Given the description of an element on the screen output the (x, y) to click on. 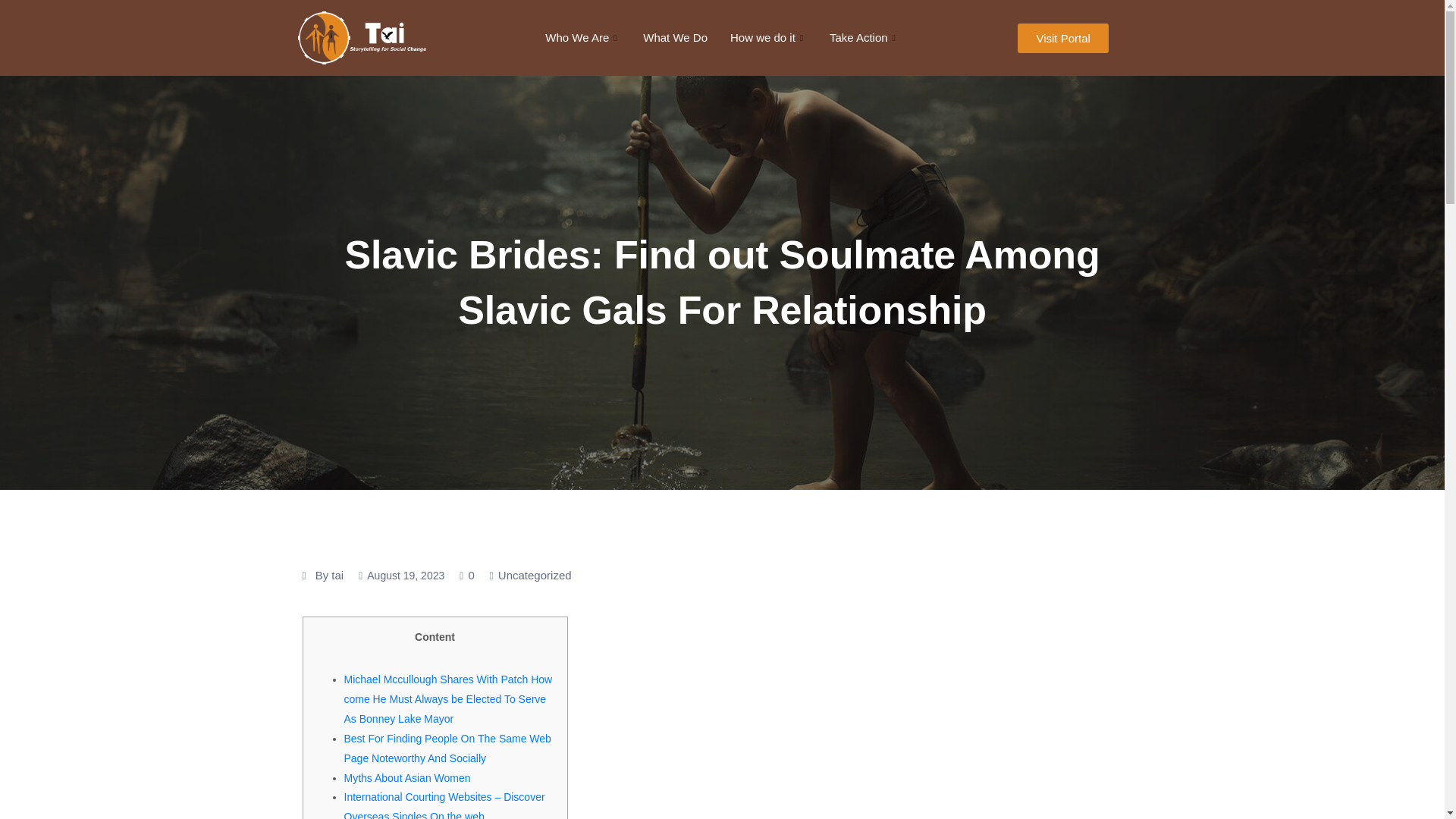
Who We Are (582, 37)
By tai (329, 575)
Take Action (864, 37)
Visit Portal (1062, 37)
Myths About Asian Women (406, 777)
How we do it (768, 37)
What We Do (675, 37)
Uncategorized (534, 574)
